Given the description of an element on the screen output the (x, y) to click on. 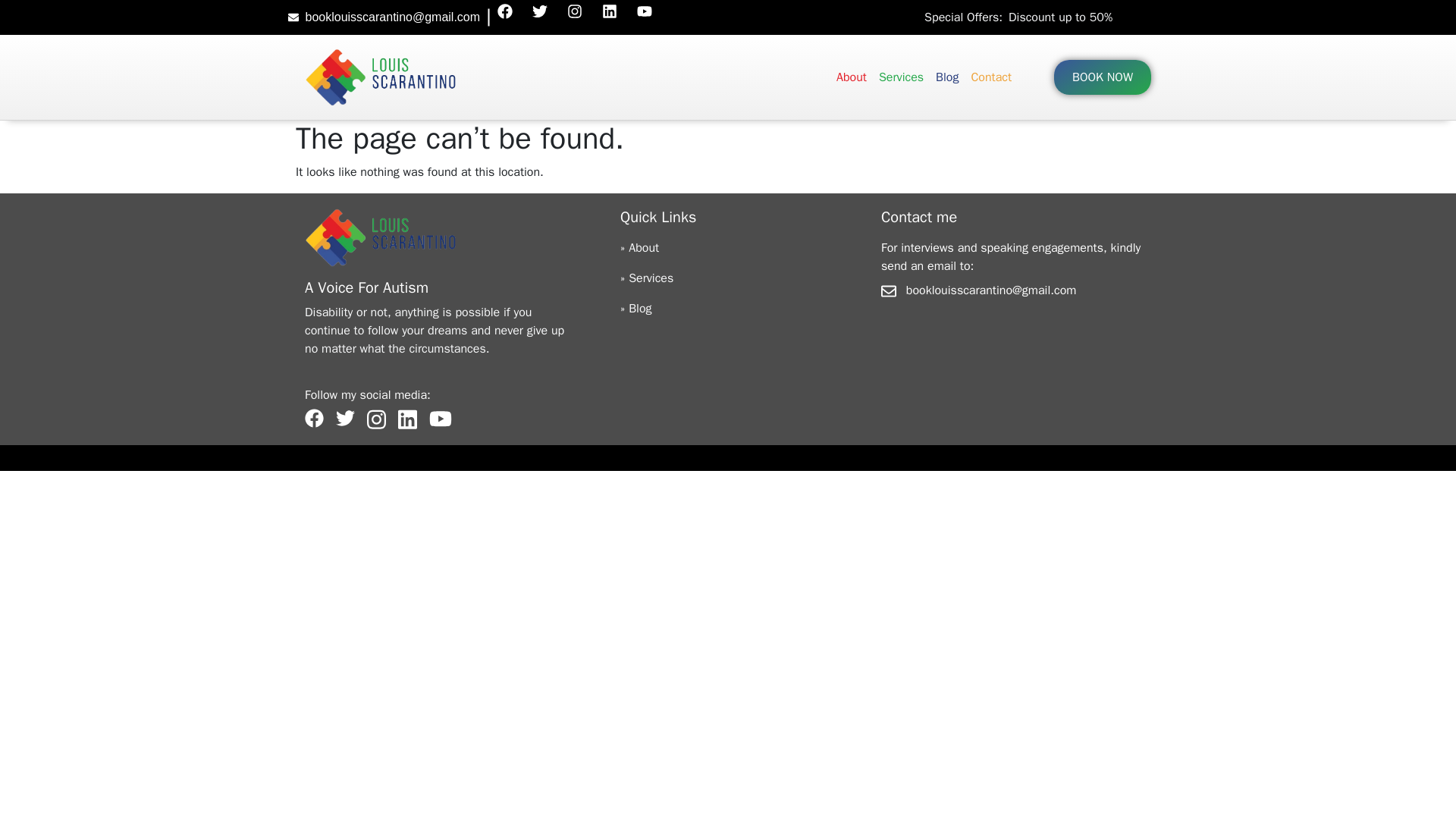
Contact me (923, 77)
Blog (918, 217)
BOOK NOW (946, 77)
Contact (1101, 77)
Services (990, 77)
About (901, 77)
